Given the description of an element on the screen output the (x, y) to click on. 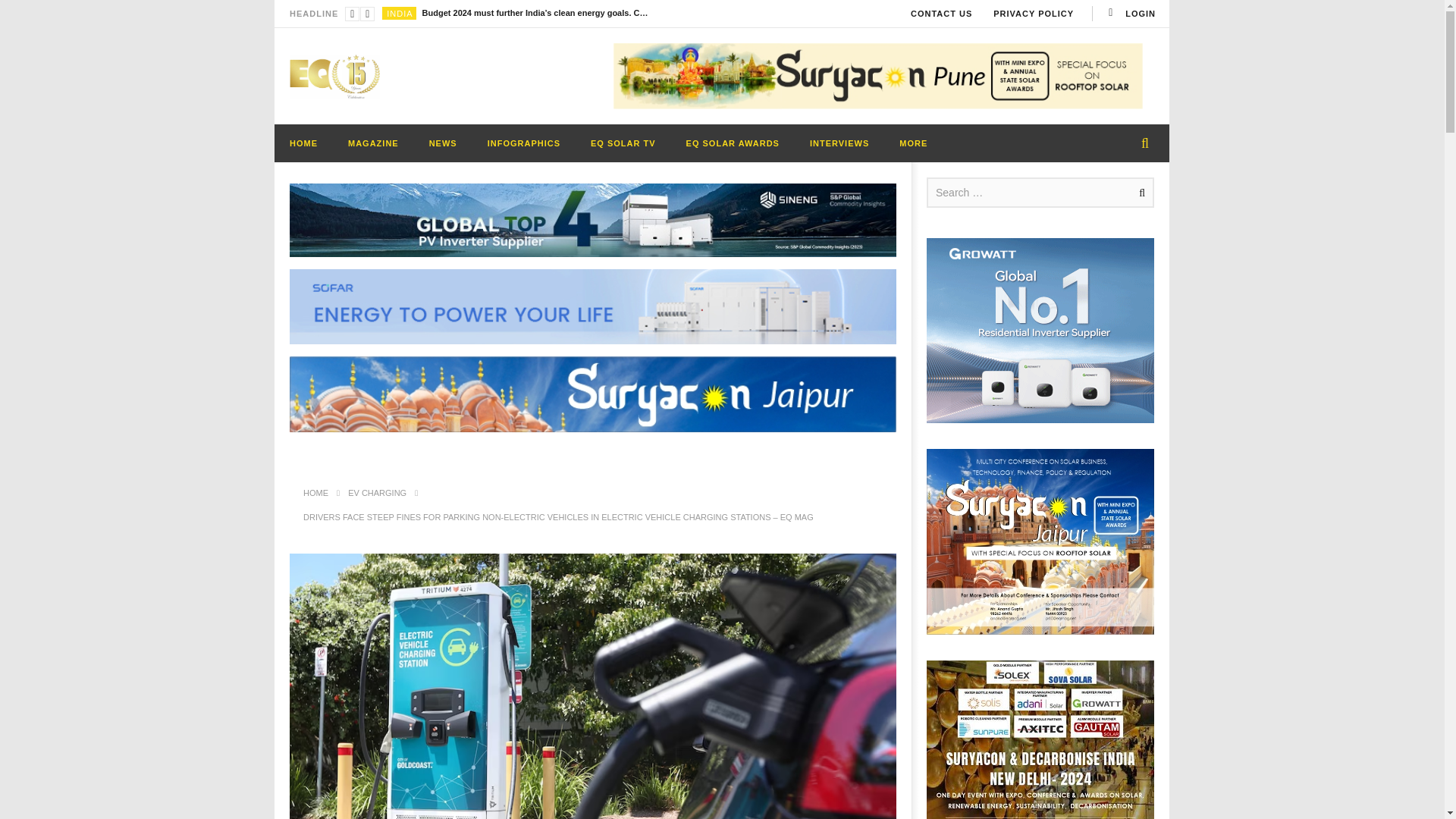
INDIA (399, 13)
View all posts in India (399, 13)
Search (1139, 192)
MAGAZINE (373, 143)
NEWS (442, 143)
LOGIN (1130, 13)
PRIVACY POLICY (1033, 13)
The Leading Solar Magazine In India (334, 76)
CONTACT US (940, 13)
Search (1139, 192)
HOME (304, 143)
